Given the description of an element on the screen output the (x, y) to click on. 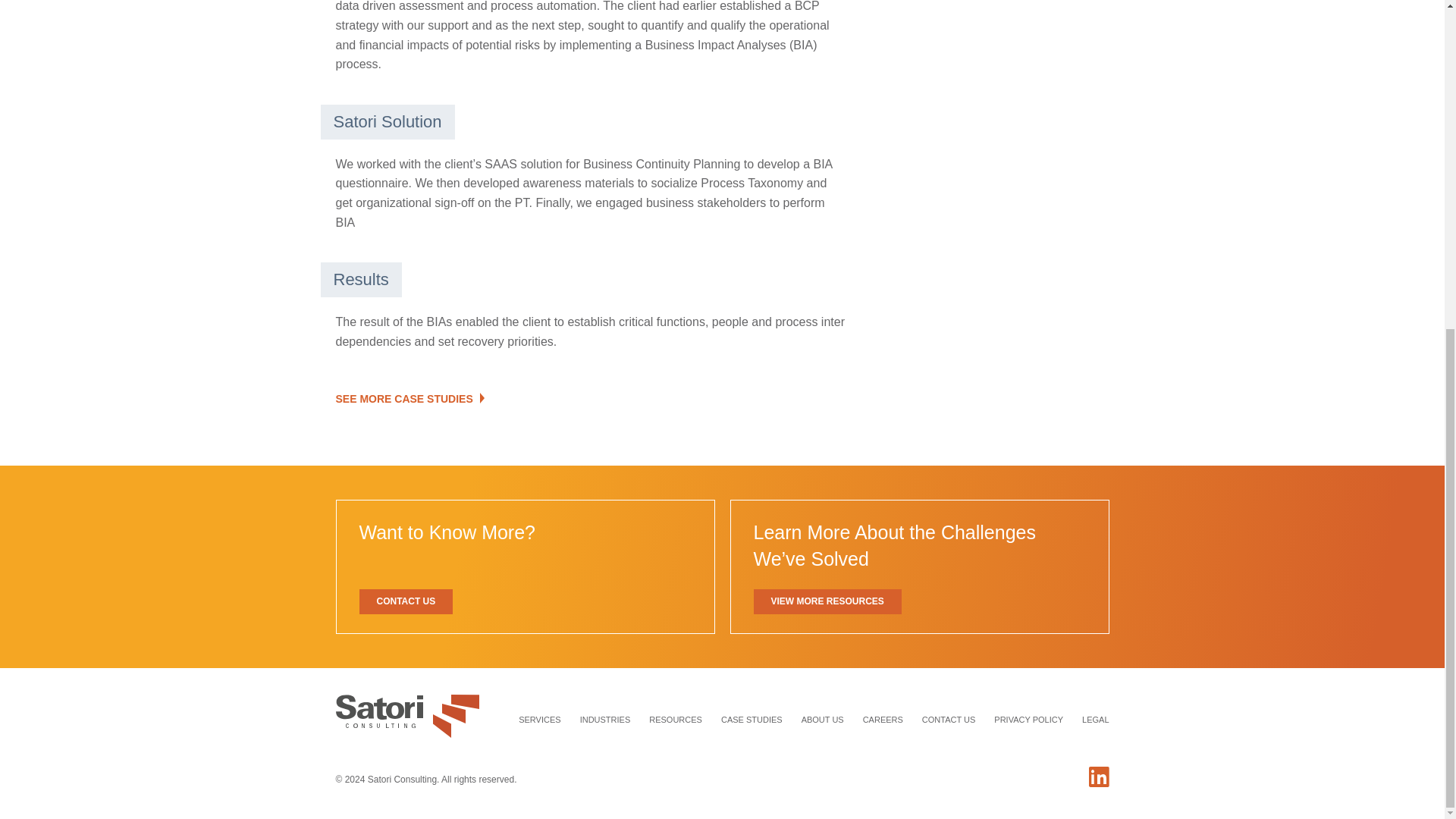
SEE MORE CASE STUDIES (408, 398)
VIEW MORE RESOURCES (827, 601)
CONTACT US (405, 601)
